Given the description of an element on the screen output the (x, y) to click on. 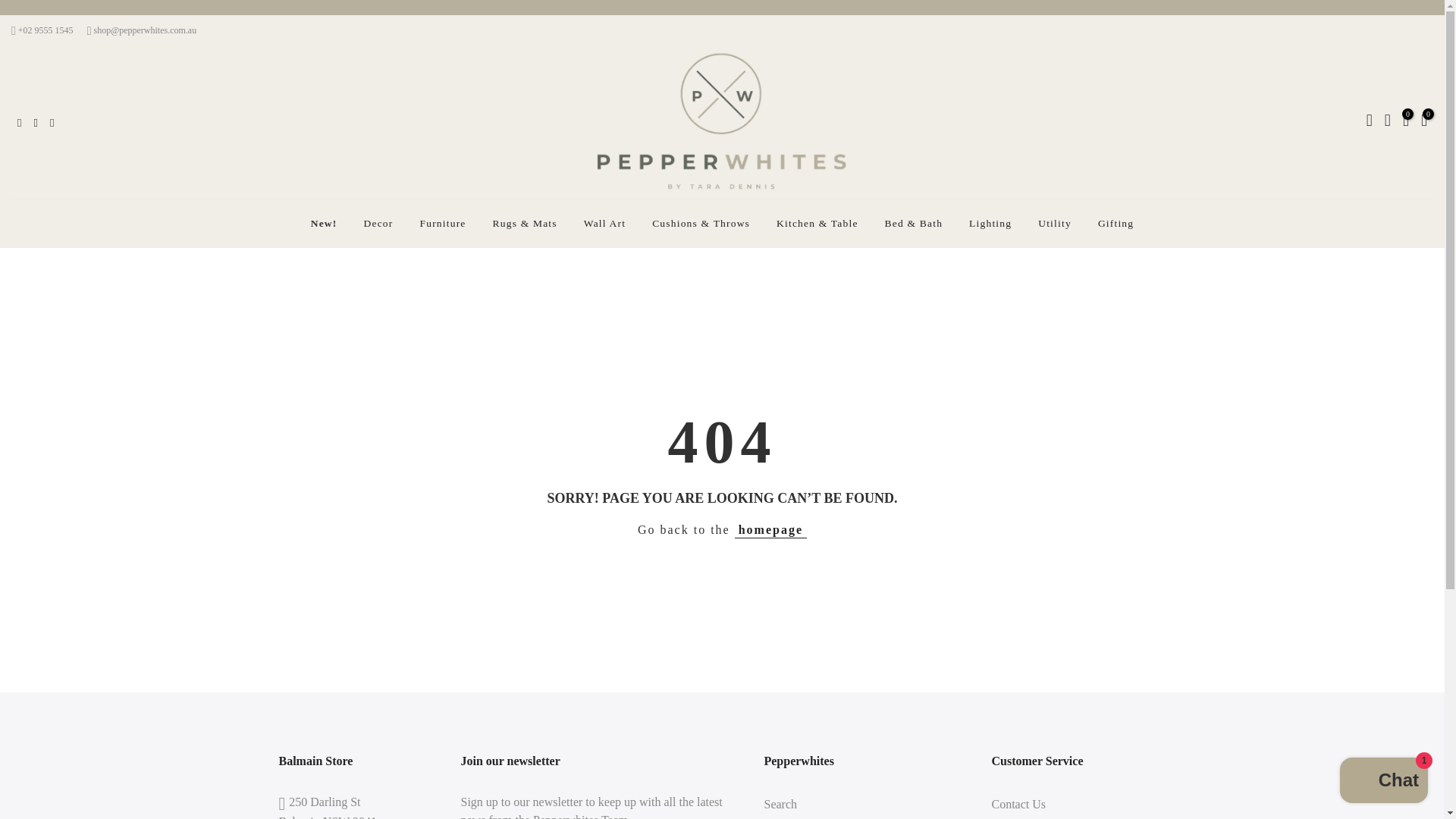
0 (1405, 121)
Shopify online store chat (1383, 781)
New! (323, 223)
Decor (378, 223)
0 (1423, 121)
